Given the description of an element on the screen output the (x, y) to click on. 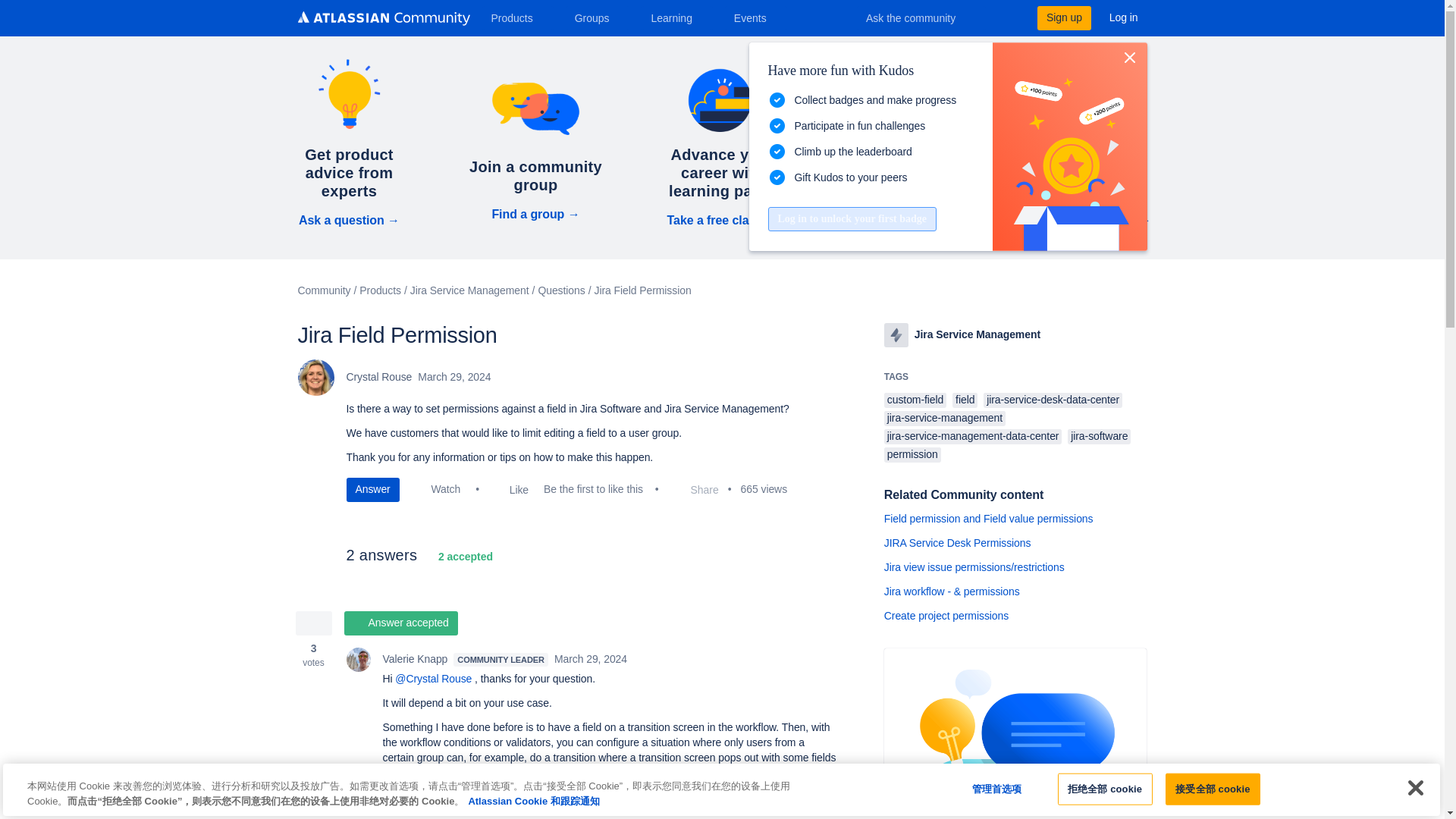
Crystal Rouse (315, 377)
Products (517, 17)
Valerie Knapp (357, 659)
Atlassian Community logo (382, 19)
Learning (676, 17)
Jira Service Desk (895, 334)
Sign up (1063, 17)
Events (756, 17)
Log in (1123, 17)
Atlassian Community logo (382, 18)
Ask the community  (921, 17)
Groups (598, 17)
Log in to unlock your first badge (851, 218)
